Given the description of an element on the screen output the (x, y) to click on. 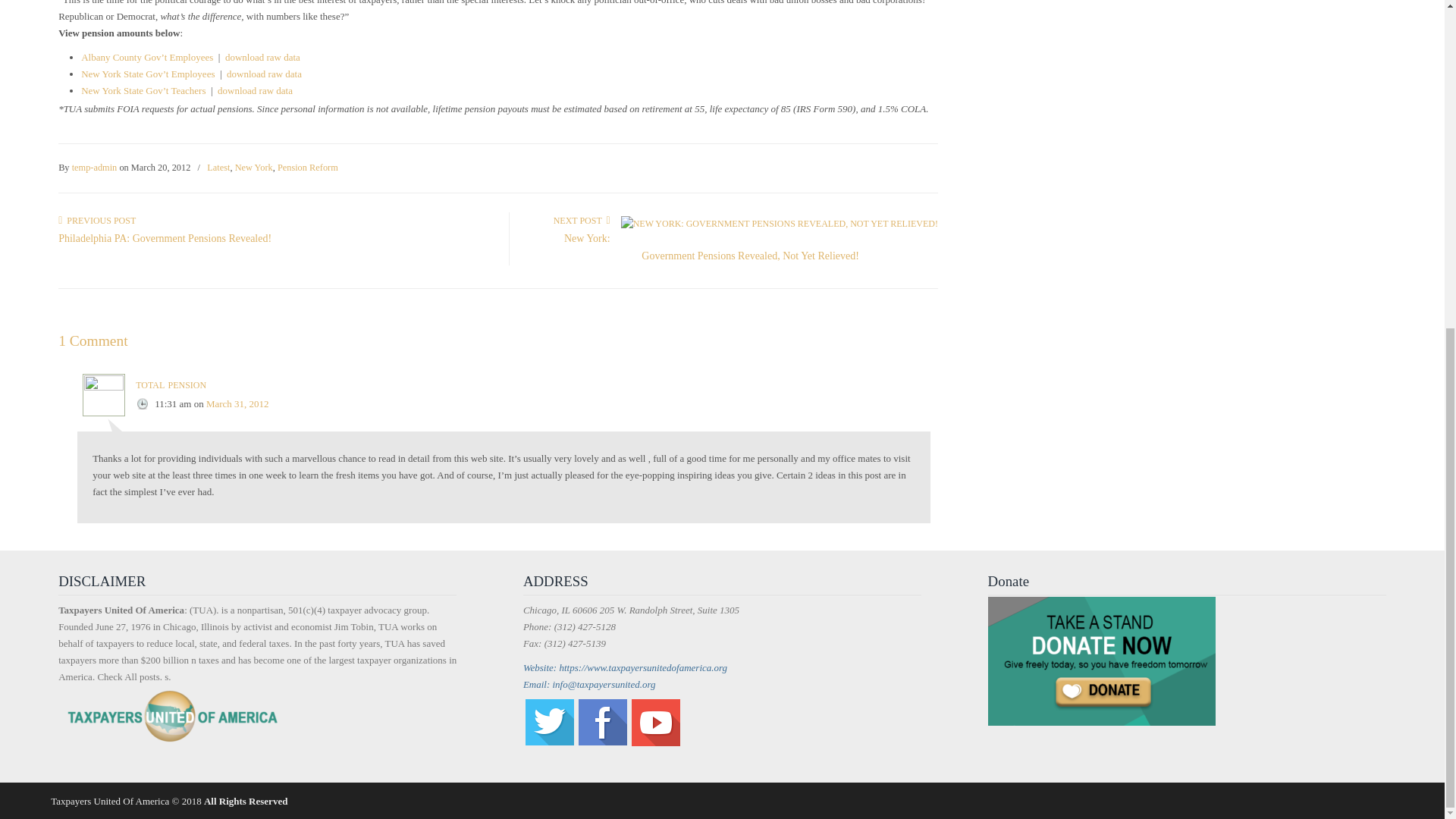
New York: Government Pensions Revealed, Not Yet Relieved! (779, 223)
Go to previous post (96, 220)
Go to next post (581, 220)
March 31, 2012 (237, 403)
Posts by temp-admin (94, 167)
New York: Government Pensions Revealed, Not Yet Relieved! (711, 247)
Philadelphia PA: Government Pensions Revealed! (164, 238)
